Given the description of an element on the screen output the (x, y) to click on. 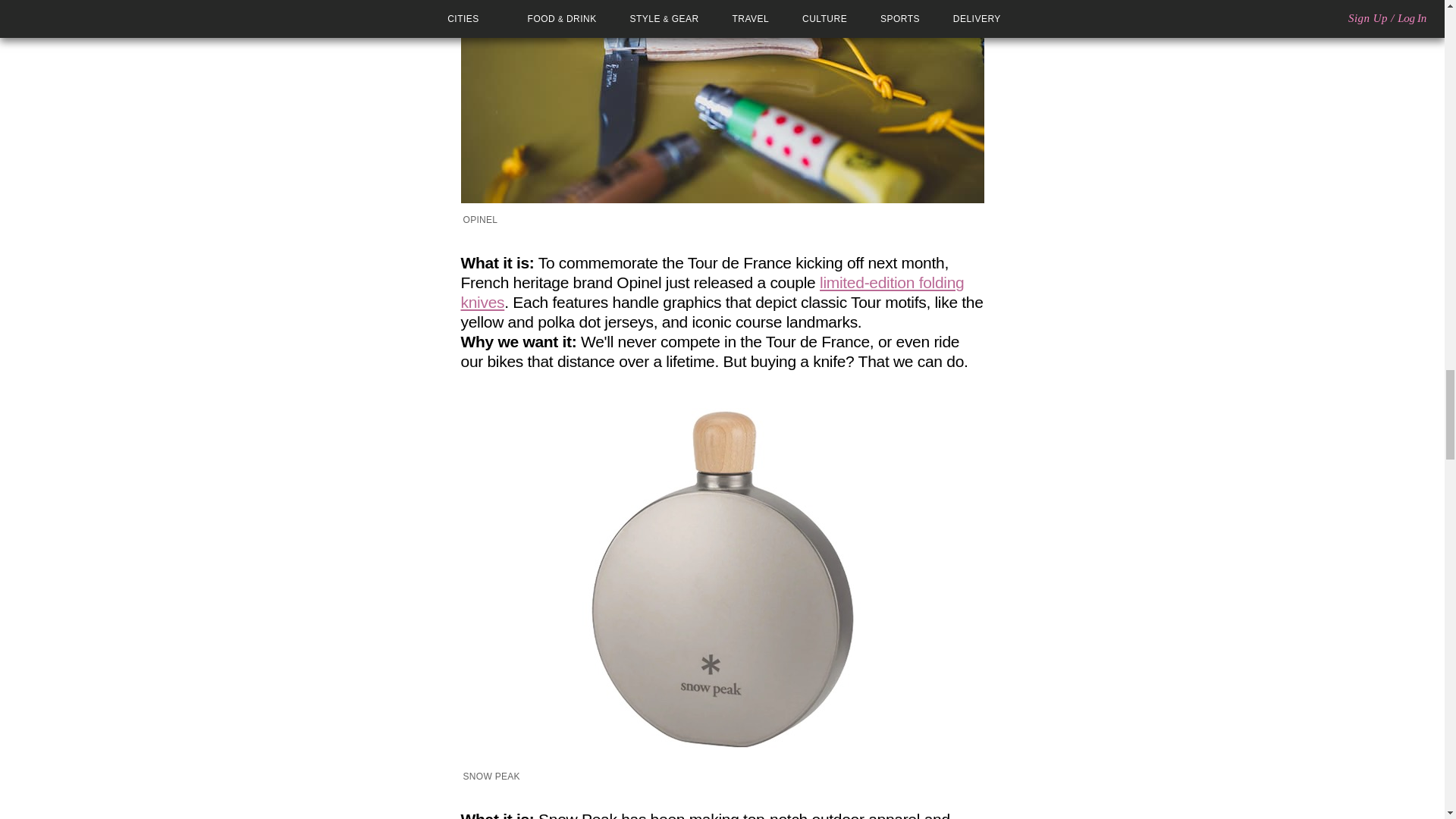
opinel tour de france knives (722, 101)
limited-edition folding knives (712, 292)
